Given the description of an element on the screen output the (x, y) to click on. 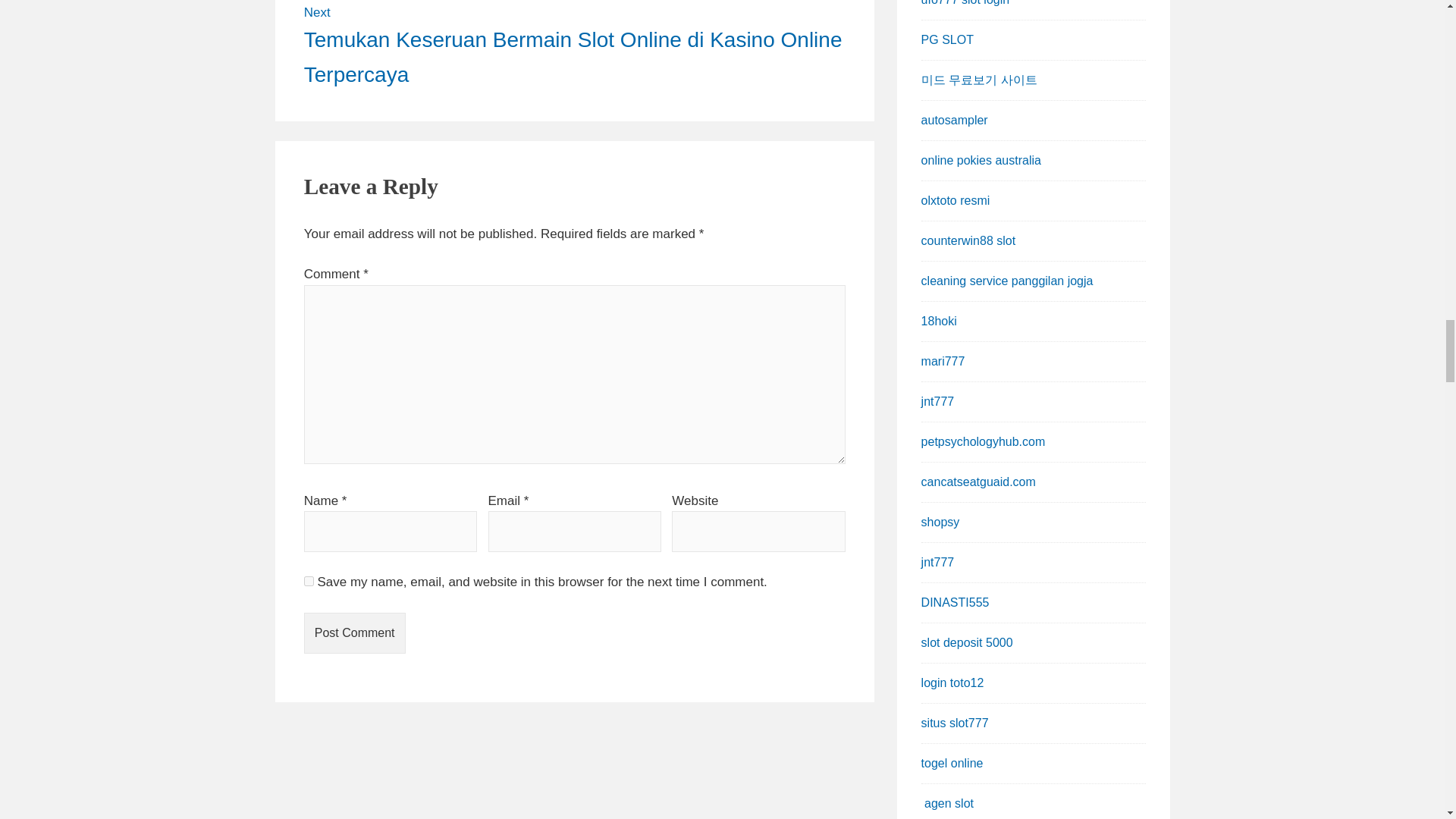
Post Comment (355, 632)
yes (309, 581)
Post Comment (355, 632)
